Given the description of an element on the screen output the (x, y) to click on. 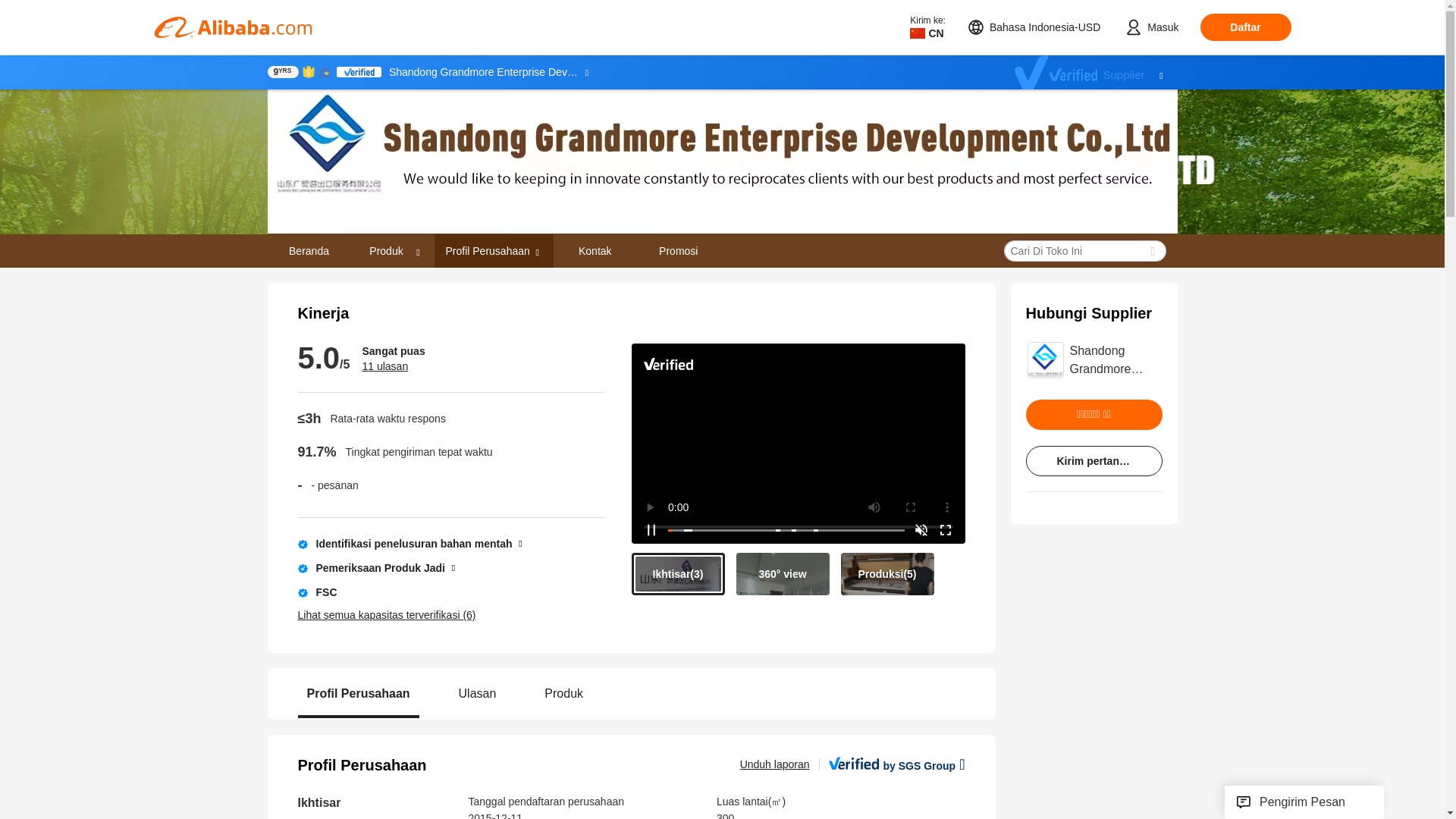
Beranda (308, 250)
Supplier (1095, 72)
9YRS (282, 71)
Produk (391, 250)
What is Gold Supplier? (282, 71)
Produk (386, 250)
Beranda (309, 250)
